Given the description of an element on the screen output the (x, y) to click on. 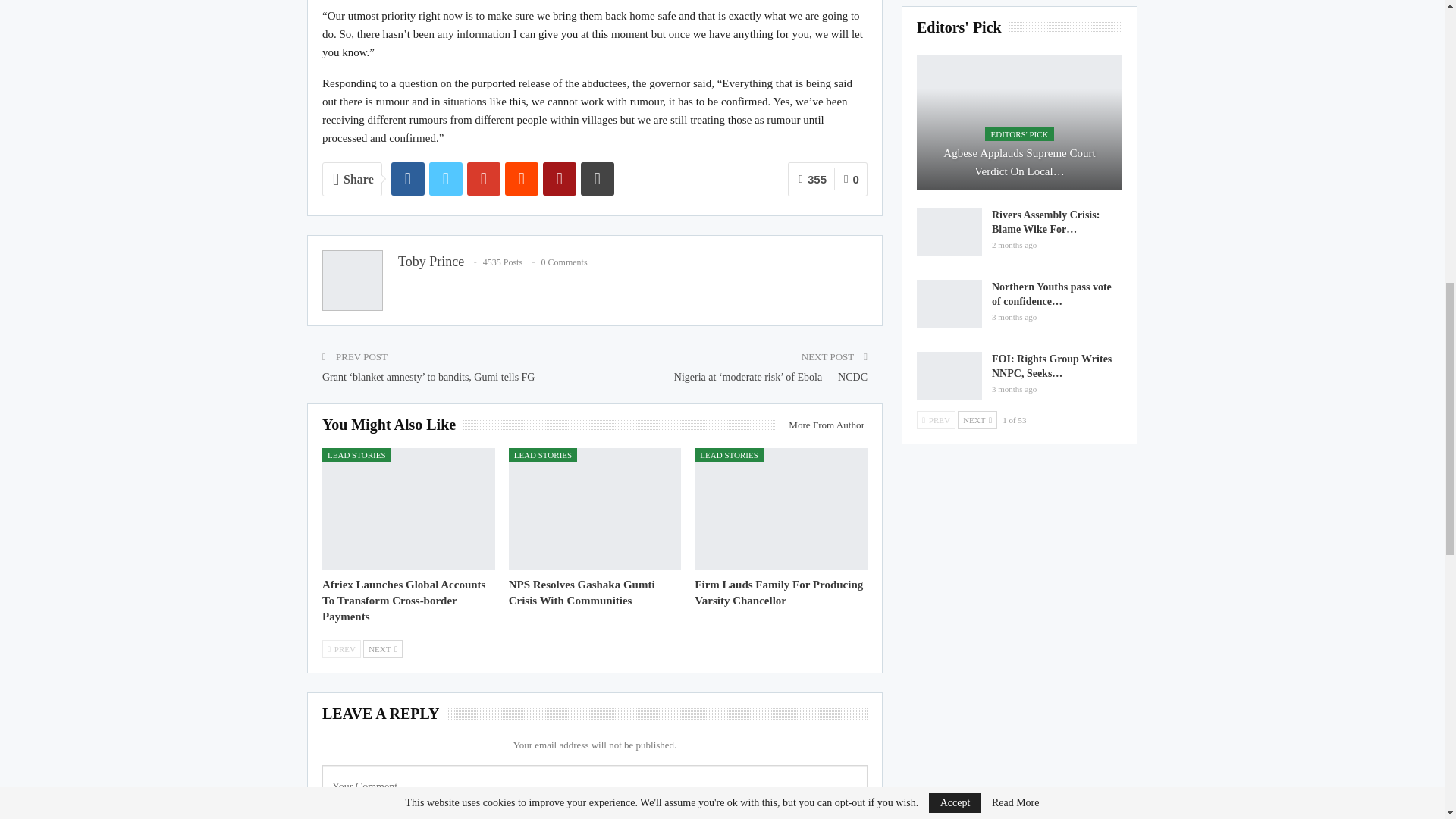
NPS Resolves Gashaka Gumti Crisis With Communities (581, 592)
NPS Resolves Gashaka Gumti Crisis With Communities (594, 507)
0 (850, 179)
